Given the description of an element on the screen output the (x, y) to click on. 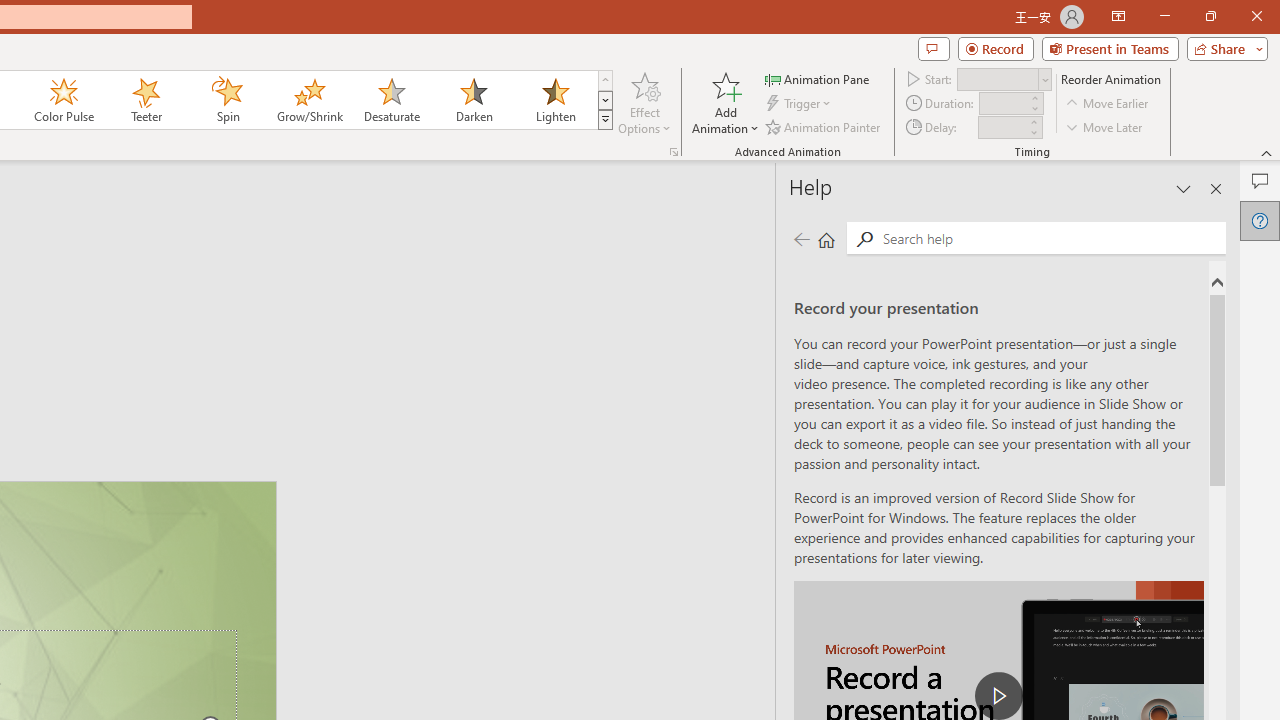
Teeter (145, 100)
Animation Styles (605, 120)
Lighten (555, 100)
Trigger (799, 103)
